Given the description of an element on the screen output the (x, y) to click on. 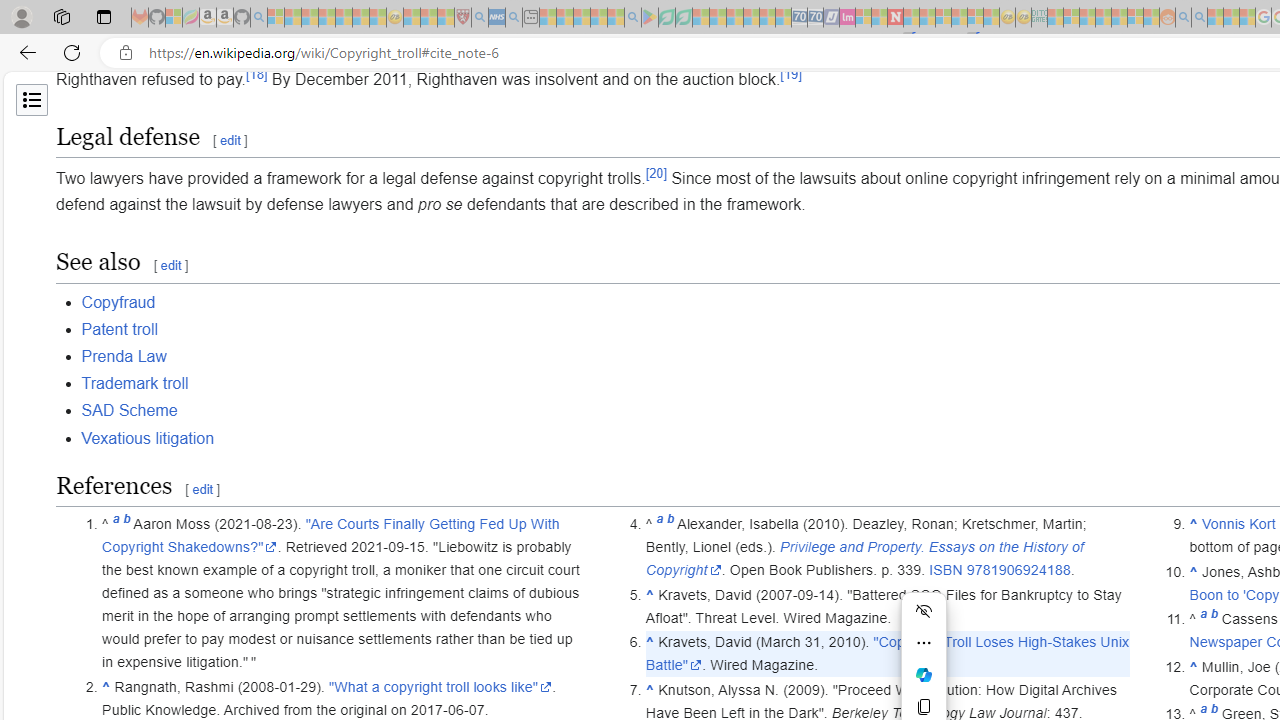
14 Common Myths Debunked By Scientific Facts - Sleeping (927, 17)
DITOGAMES AG Imprint - Sleeping (1039, 17)
MSNBC - MSN - Sleeping (1055, 17)
Local - MSN - Sleeping (445, 17)
Expert Portfolios - Sleeping (1103, 17)
Patent troll (119, 328)
Ask Copilot (923, 674)
The Weather Channel - MSN - Sleeping (309, 17)
